Given the description of an element on the screen output the (x, y) to click on. 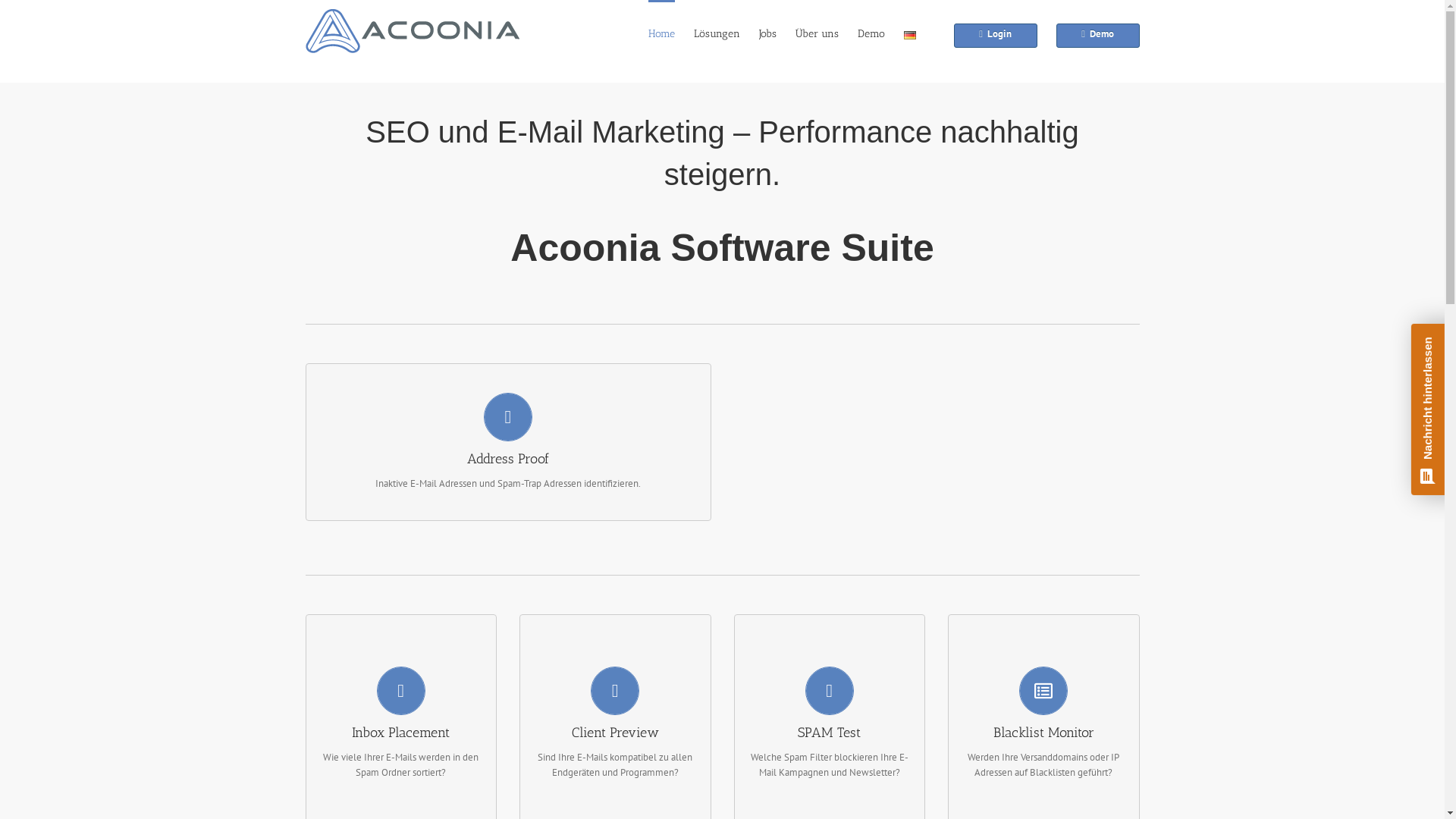
Deutsch Element type: hover (909, 33)
INBOX PLACEMENT Element type: text (400, 794)
  Login Element type: text (995, 33)
Home Element type: text (660, 32)
Jobs Element type: text (766, 32)
Blacklist Monitor Element type: text (1043, 794)
Demo Element type: text (870, 32)
E-MAIL PREVIEW Element type: text (614, 794)
  Demo Element type: text (1097, 33)
Spam Test Element type: text (829, 794)
